Given the description of an element on the screen output the (x, y) to click on. 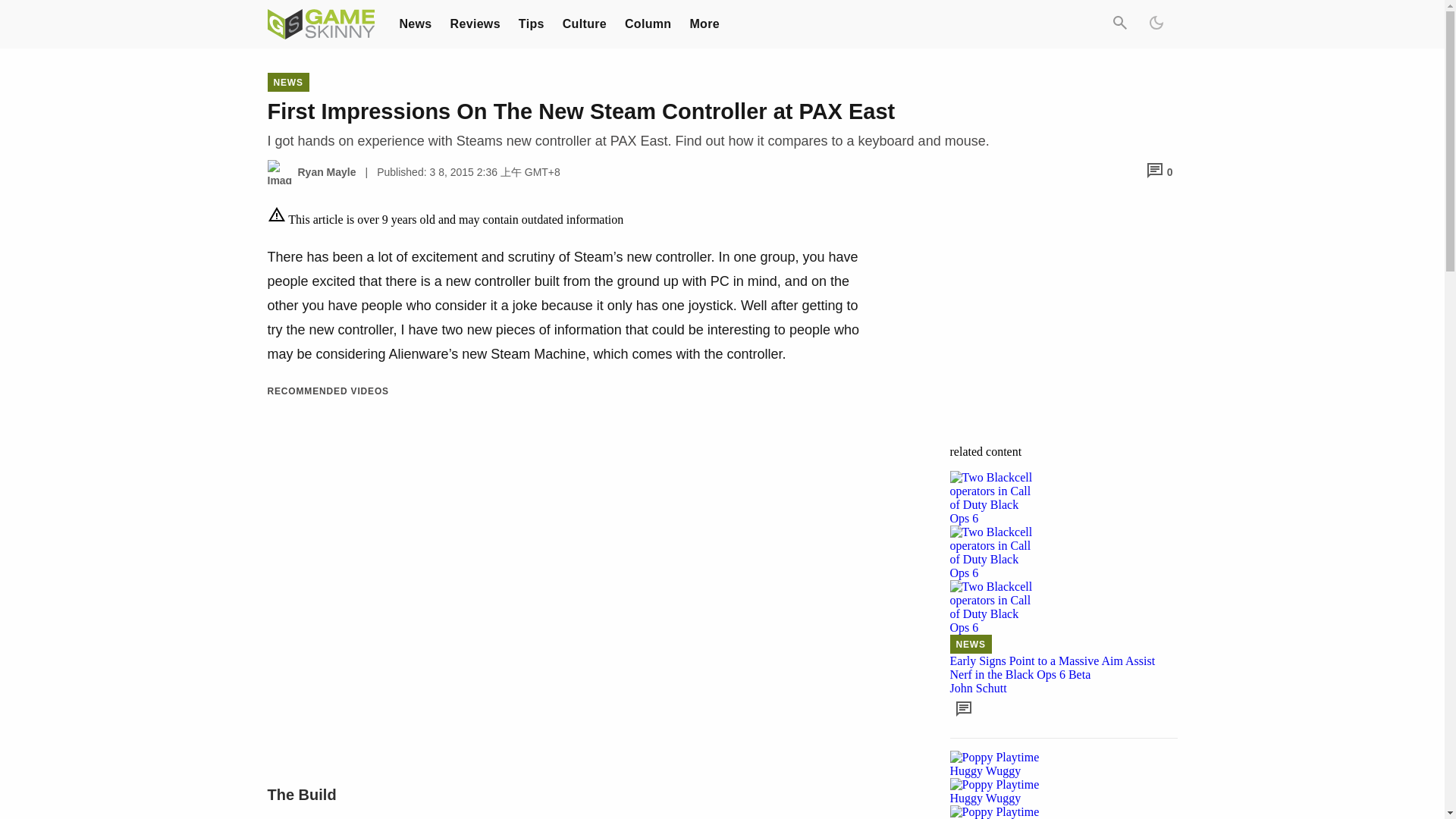
Dark Mode (1155, 23)
Culture (584, 23)
Search (1118, 23)
Reviews (474, 23)
Column (647, 23)
Tips (531, 23)
News (414, 23)
